Given the description of an element on the screen output the (x, y) to click on. 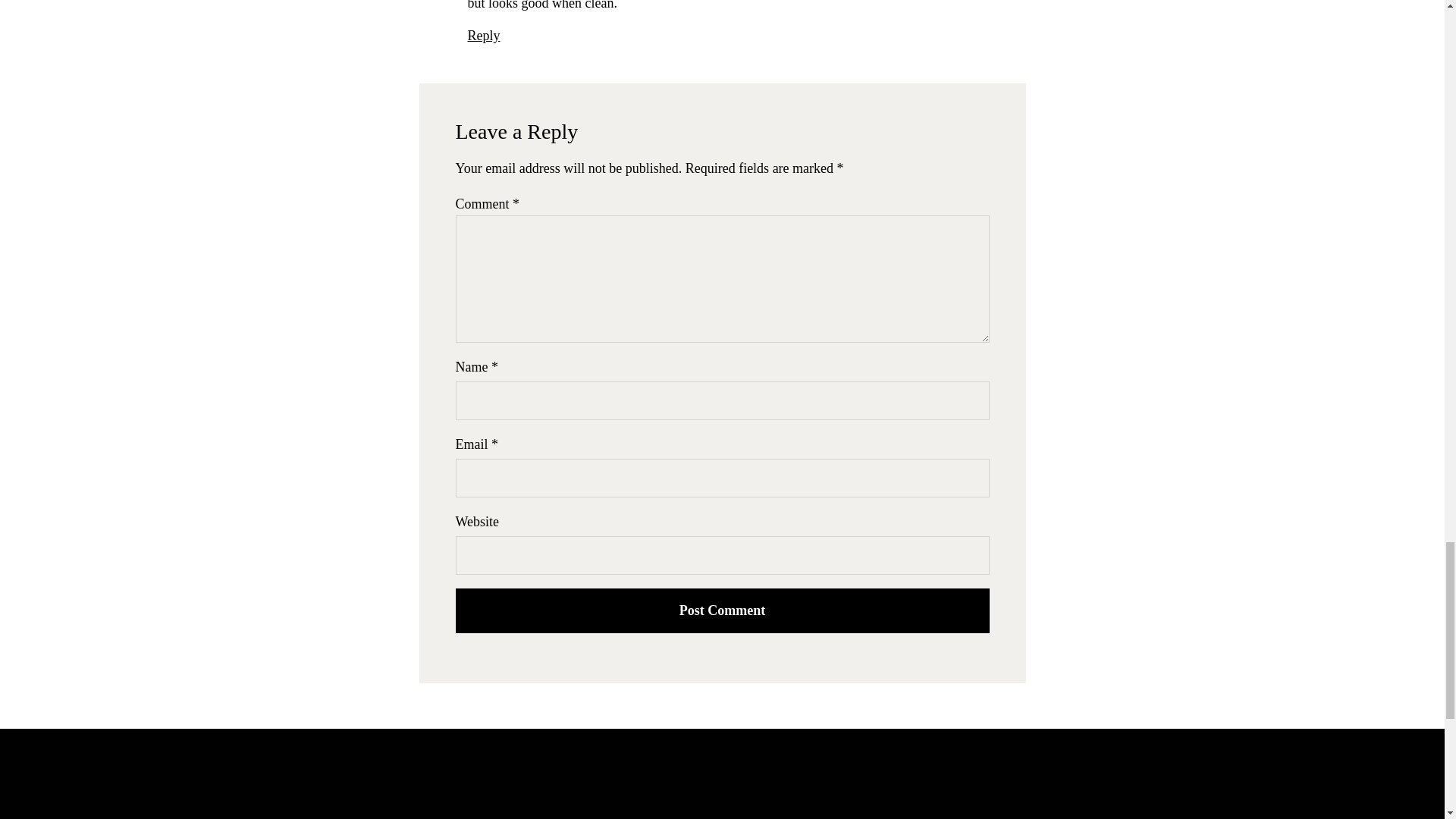
Post Comment (721, 610)
Post Comment (721, 610)
Reply (483, 35)
